Given the description of an element on the screen output the (x, y) to click on. 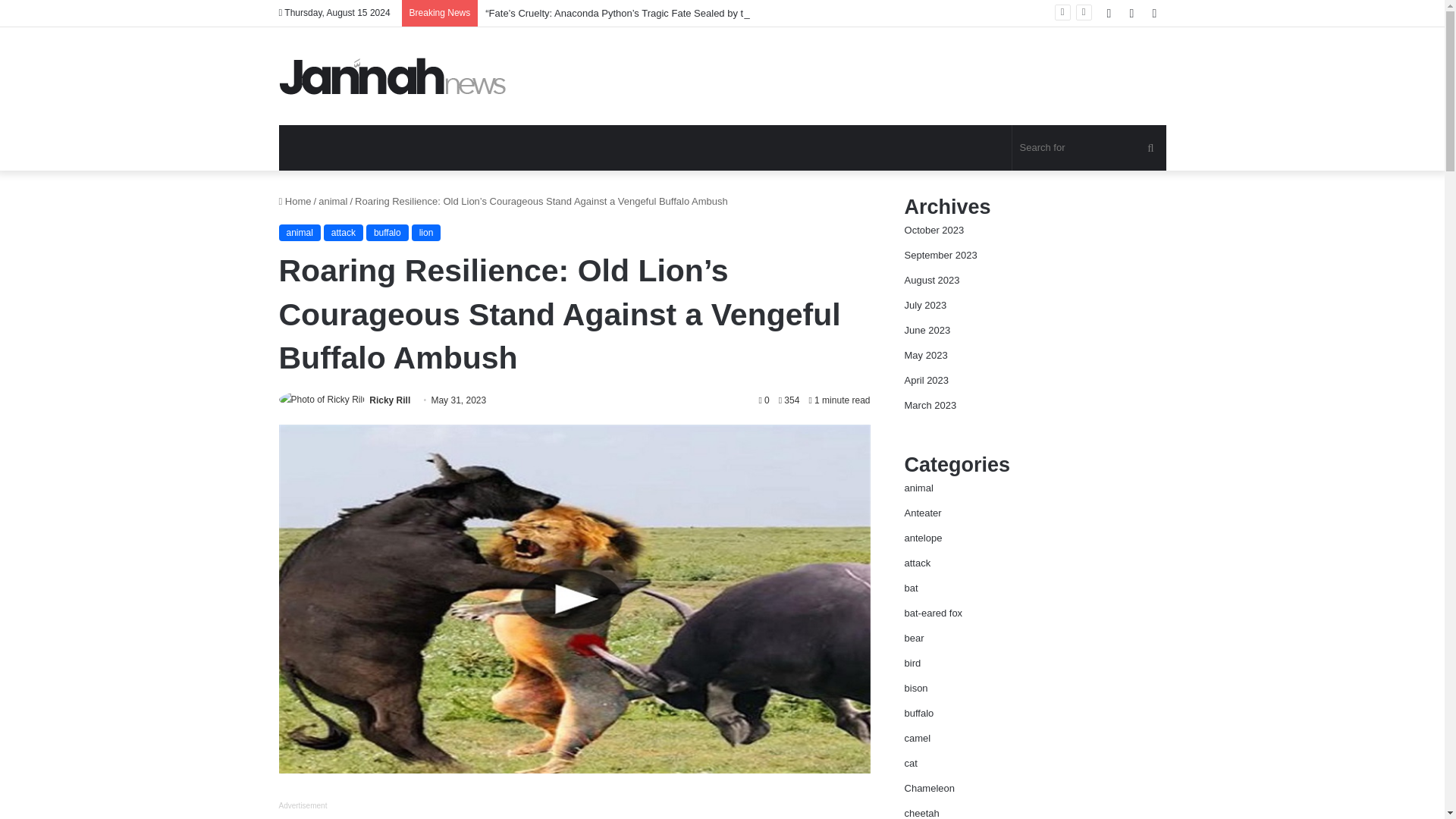
Boxing today (392, 76)
lion (426, 232)
attack (342, 232)
Ricky Rill (389, 399)
Ricky Rill (389, 399)
Search for (1088, 147)
Home (295, 201)
buffalo (387, 232)
animal (299, 232)
animal (332, 201)
